Given the description of an element on the screen output the (x, y) to click on. 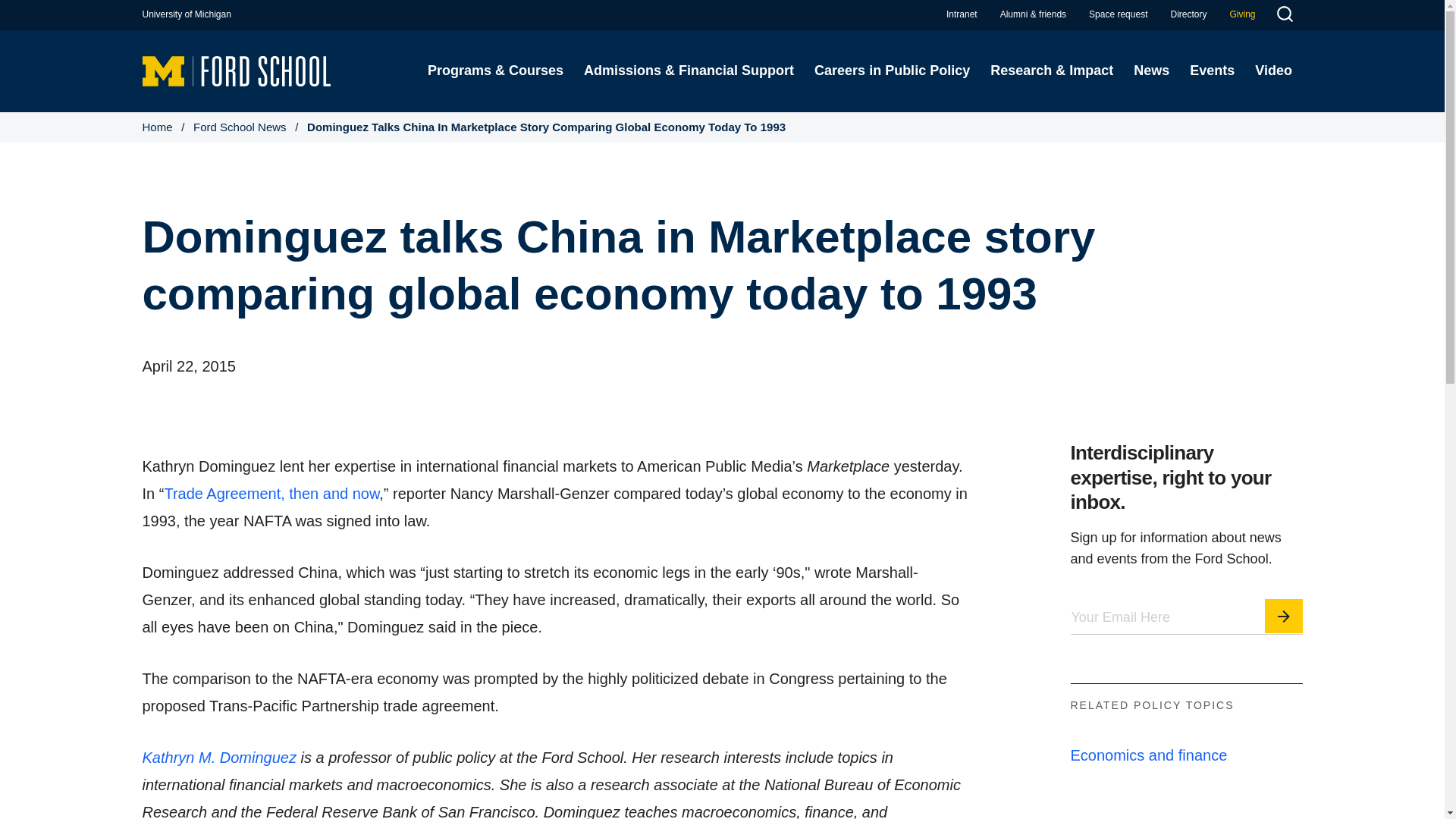
Home (236, 69)
Intranet (961, 14)
Space request (1118, 14)
Search Toggle (1283, 15)
Give to the Ford School (1241, 14)
A connected community to each other, and to the world (1032, 14)
Giving (1241, 14)
Ford School faculty, staff, and student contacts (1188, 14)
Learn more about our facilities and how to reserve them (1118, 14)
Directory (1188, 14)
Subscribe (1284, 615)
Ford School academic program and course information (494, 71)
University of Michigan (186, 14)
